Given the description of an element on the screen output the (x, y) to click on. 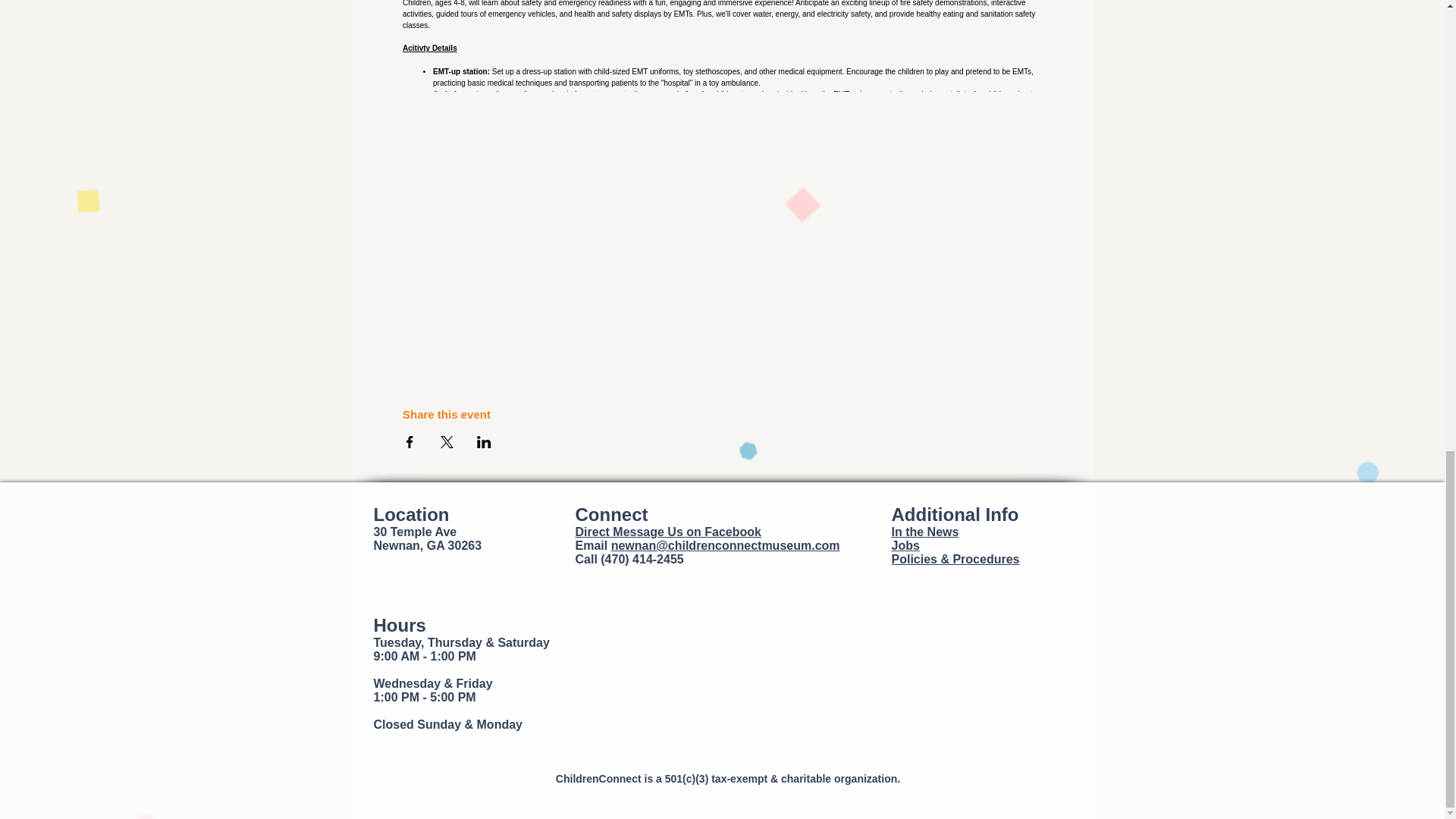
Hours (398, 625)
Connect (611, 514)
Direct Messag (616, 531)
In the News (925, 531)
Jobs (905, 545)
Additional Info (955, 514)
e Us on Facebook (709, 531)
